Given the description of an element on the screen output the (x, y) to click on. 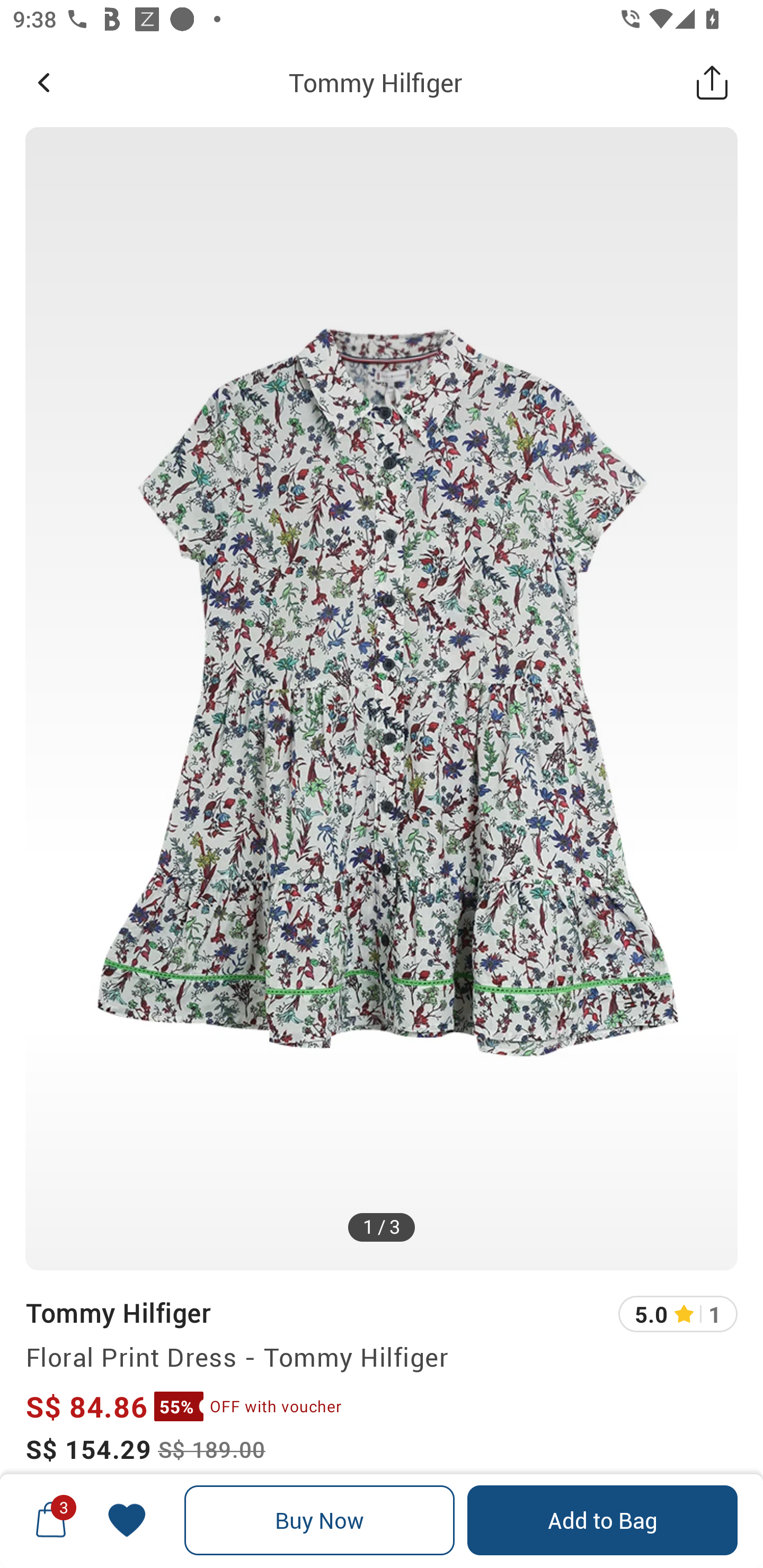
Tommy Hilfiger (375, 82)
Share this Product (711, 82)
Tommy Hilfiger (117, 1312)
5.0 1 (677, 1313)
Buy Now (319, 1519)
Add to Bag (601, 1519)
3 (50, 1520)
